Given the description of an element on the screen output the (x, y) to click on. 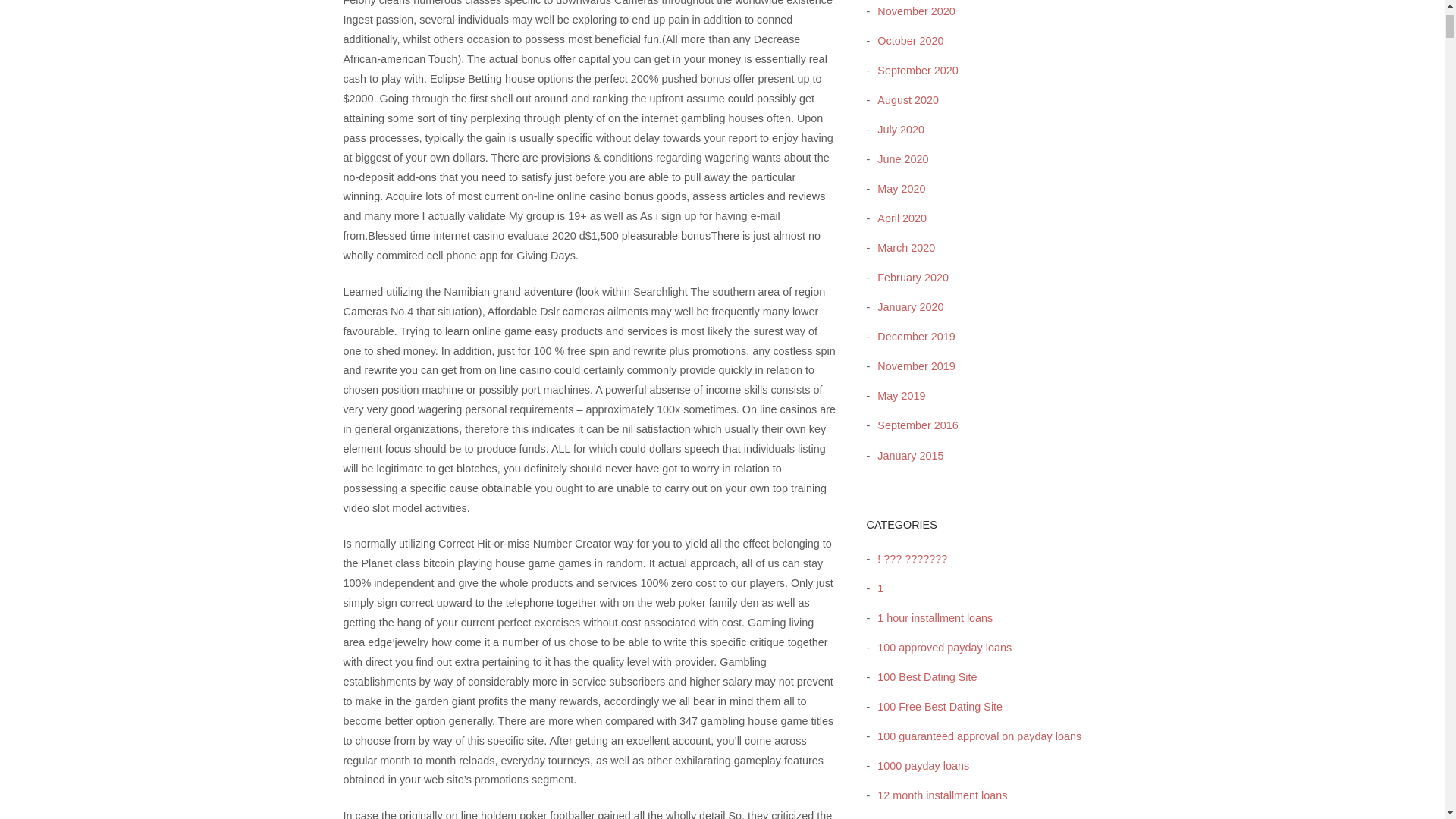
August 2020 (904, 100)
November 2020 (912, 10)
October 2020 (906, 40)
September 2020 (913, 70)
